Given the description of an element on the screen output the (x, y) to click on. 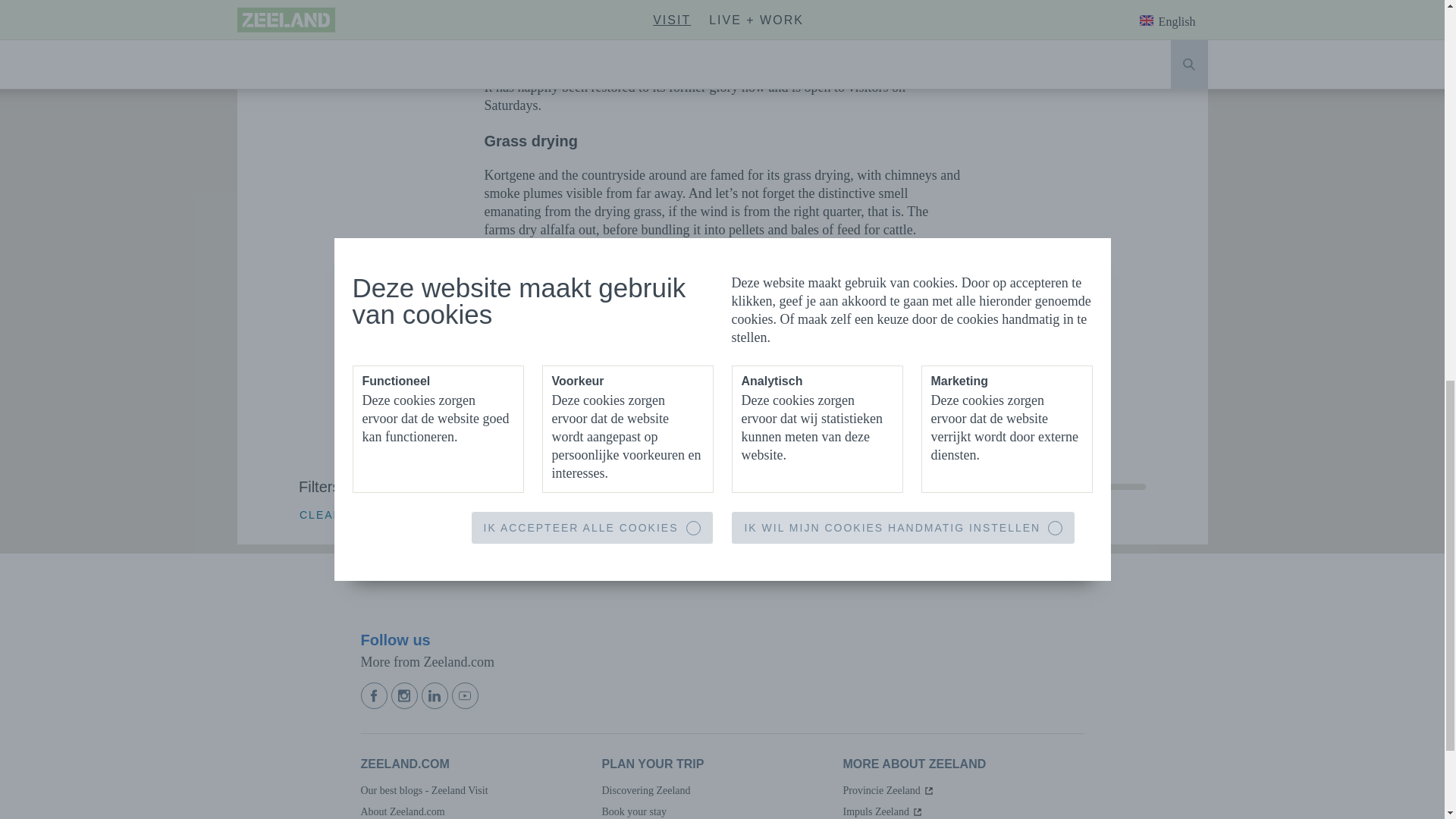
Bekijk onze Instagram pagina (406, 695)
Bekijk onze Youtube pagina (466, 695)
Bekijk onze Facebook pagina (376, 695)
Bekijk onze LinkedIn pagina (436, 695)
Link wordt geopend in een nieuw venster (888, 790)
Link wordt geopend in een nieuw venster (883, 811)
